Given the description of an element on the screen output the (x, y) to click on. 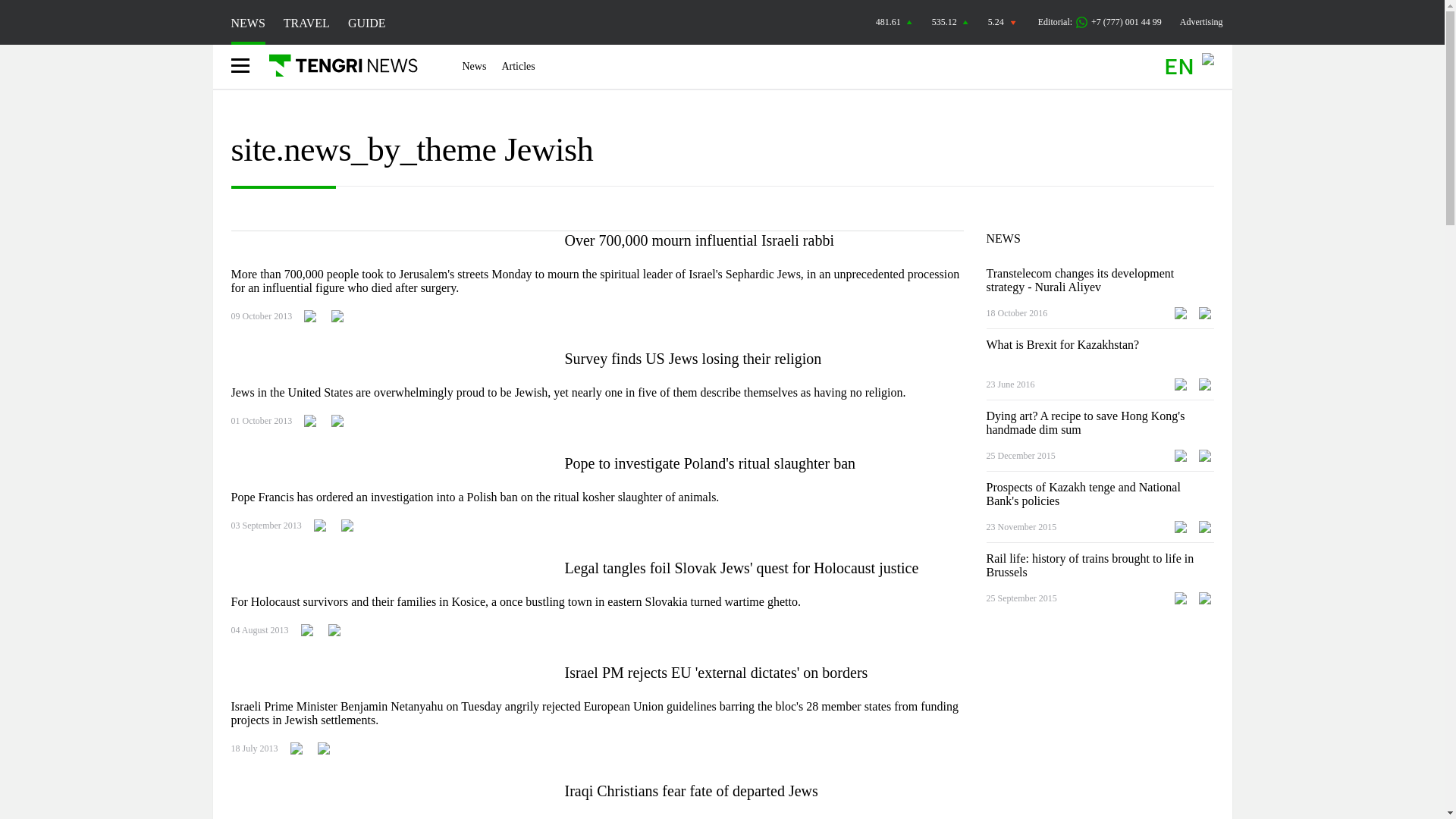
Articles (517, 66)
News (474, 66)
Advertising (1201, 21)
TRAVEL (306, 22)
